Given the description of an element on the screen output the (x, y) to click on. 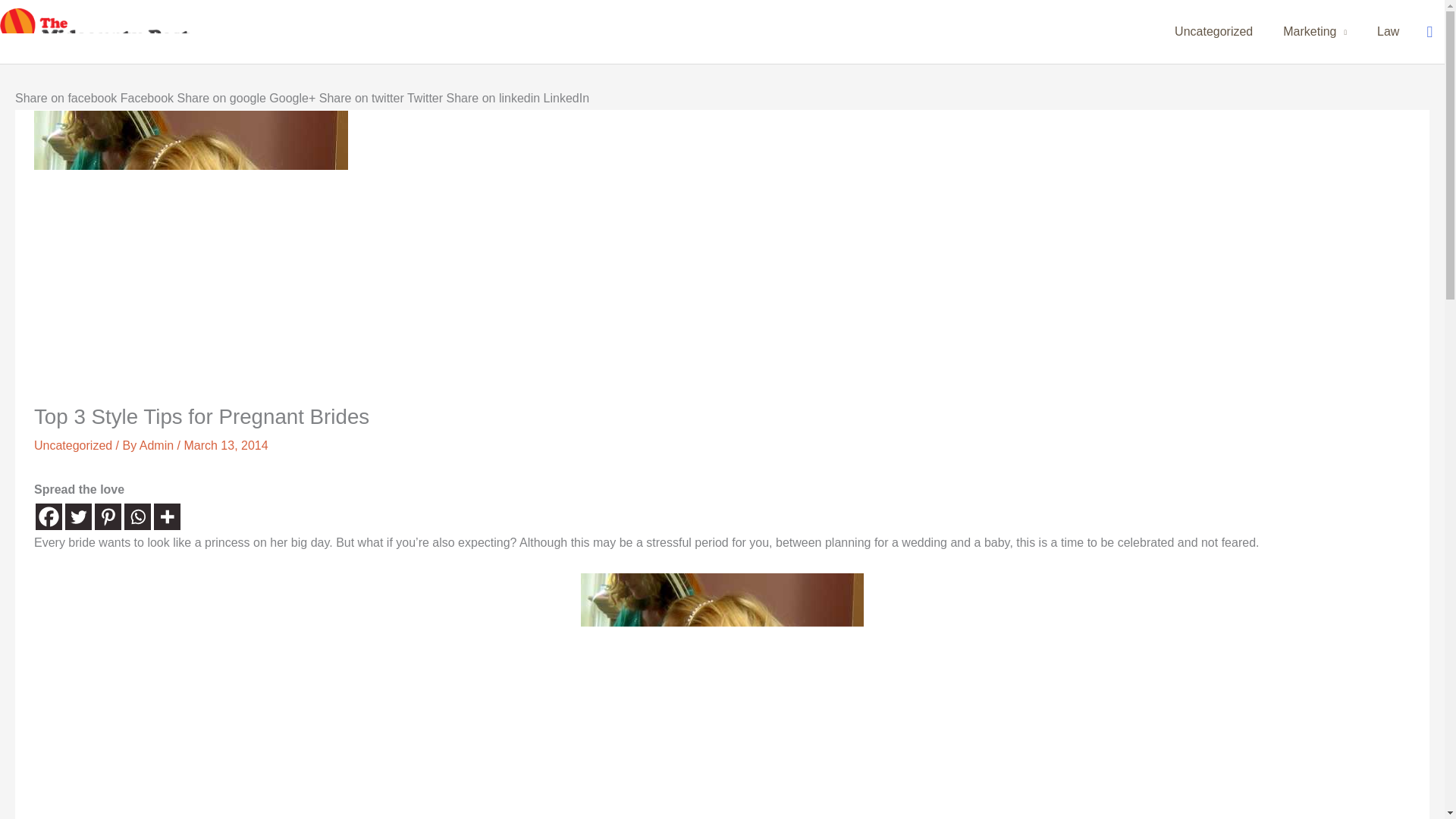
Twitter (78, 516)
Uncategorized (72, 445)
View all posts by Admin (158, 445)
wedding hair and makeup (721, 694)
Law (1387, 31)
Pinterest (107, 516)
Admin (158, 445)
Uncategorized (1213, 31)
Marketing (1314, 31)
More (167, 516)
Whatsapp (137, 516)
Facebook (48, 516)
